Given the description of an element on the screen output the (x, y) to click on. 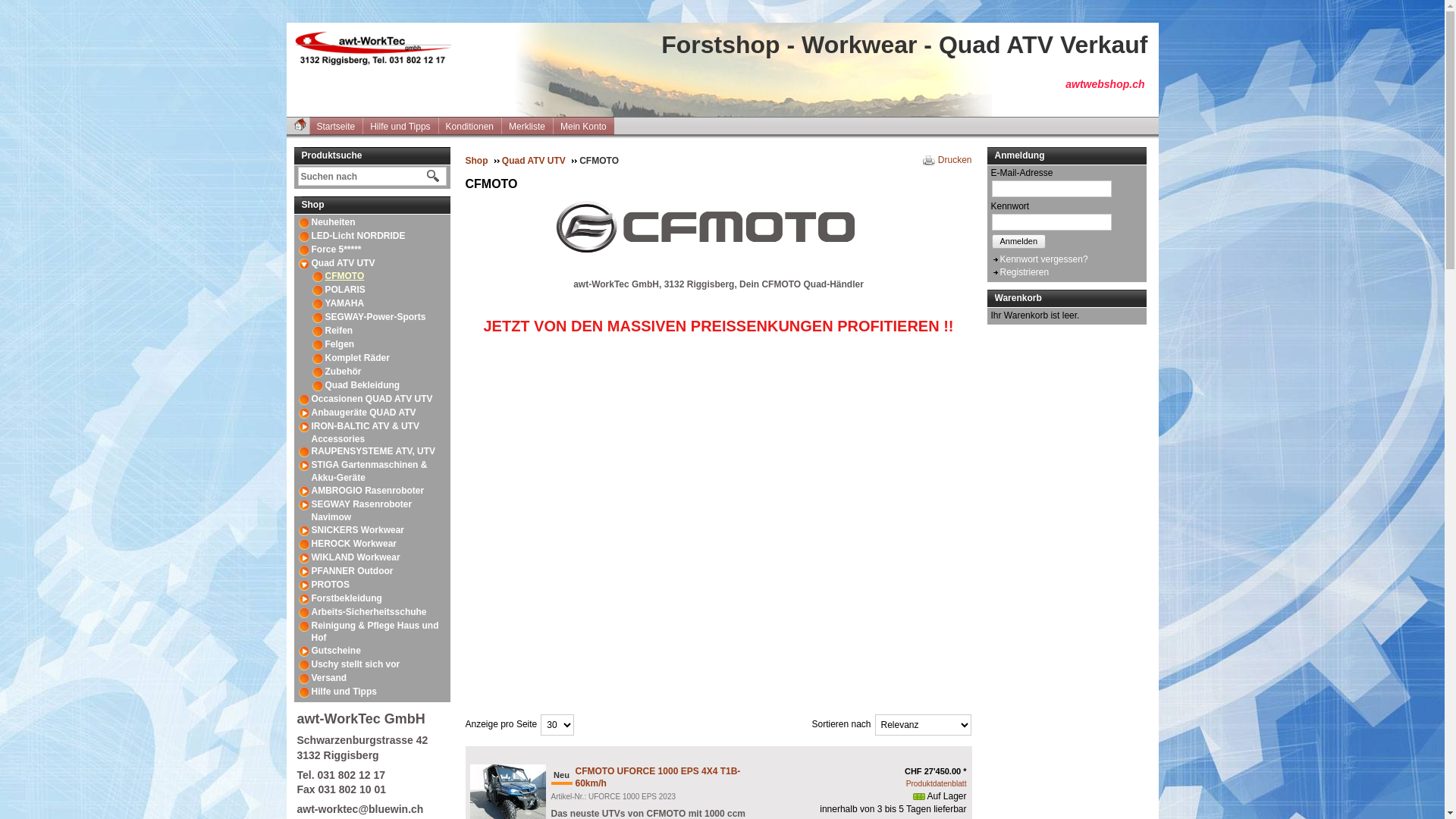
YAMAHA Element type: text (344, 303)
CFMOTO Element type: text (344, 275)
Quad ATV UTV Element type: text (539, 160)
Felgen Element type: text (339, 344)
Anmelden Element type: text (1018, 241)
Registrieren Element type: text (1019, 271)
Konditionen Element type: text (473, 125)
Startseite Element type: text (339, 125)
Startseite Element type: hover (300, 124)
Forstshop - Workwear - Quad ATV Verkauf Element type: hover (380, 51)
Shop Element type: text (372, 205)
Suche starten Element type: hover (432, 176)
WIKLAND Workwear Element type: text (355, 557)
Quad ATV UTV Element type: text (343, 263)
SEGWAY-Power-Sports Element type: text (375, 316)
Shop Element type: text (482, 160)
LED-Licht NORDRIDE Element type: text (358, 235)
Reifen Element type: text (339, 330)
Force 5***** Element type: text (336, 249)
Forstshop - Workwear - Quad ATV Verkauf Element type: text (904, 44)
Gutscheine Element type: text (335, 650)
Hilfe und Tipps Element type: text (403, 125)
PROTOS Element type: text (330, 584)
Hilfe und Tipps Element type: text (343, 691)
IRON-BALTIC ATV & UTV Accessories Element type: text (364, 432)
PFANNER Outdoor Element type: text (352, 570)
SNICKERS Workwear Element type: text (357, 530)
Mein Konto Element type: text (587, 125)
AMBROGIO Rasenroboter Element type: text (367, 490)
POLARIS Element type: text (345, 289)
SEGWAY Rasenroboter Navimow Element type: text (360, 510)
Produktdatenblatt Element type: text (936, 783)
Reinigung & Pflege Haus und Hof Element type: text (374, 631)
Versand Element type: text (329, 677)
Occasionen QUAD ATV UTV Element type: text (371, 398)
CFMOTO UFORCE 1000 EPS 4X4 T1B-60km/h Element type: text (657, 777)
RAUPENSYSTEME ATV, UTV Element type: text (373, 451)
Arbeits-Sicherheitsschuhe Element type: text (368, 611)
HEROCK Workwear Element type: text (353, 543)
Kennwort vergessen? Element type: text (1038, 259)
Quad Bekleidung Element type: text (362, 385)
Uschy stellt sich vor Element type: text (355, 664)
Merkliste Element type: text (530, 125)
Drucken Element type: text (947, 160)
Neuheiten Element type: text (333, 222)
Forstbekleidung Element type: text (346, 598)
